Given the description of an element on the screen output the (x, y) to click on. 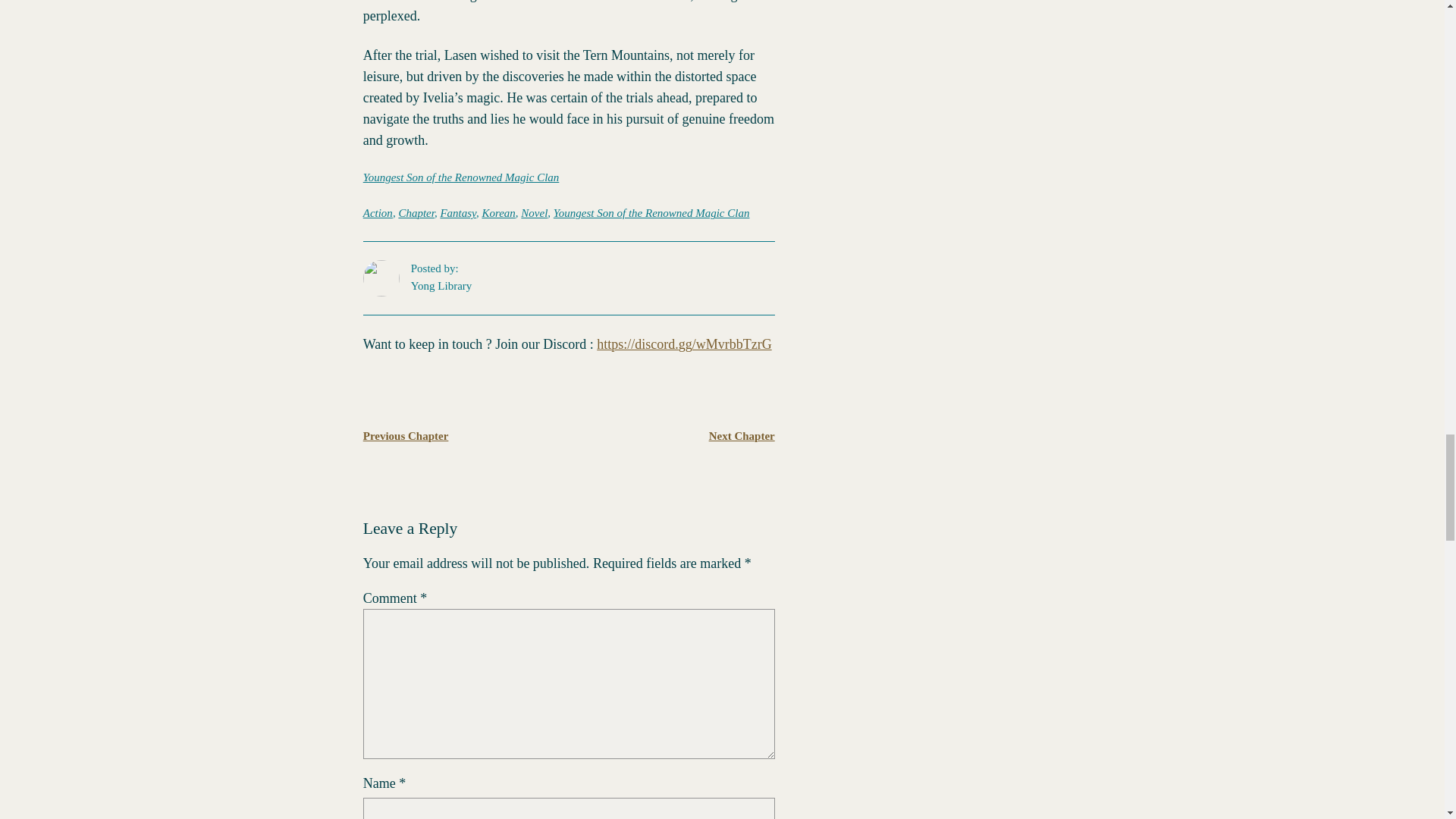
Korean (498, 213)
Chapter (415, 213)
Fantasy (457, 213)
Action (377, 213)
Youngest Son of the Renowned Magic Clan (460, 177)
